Given the description of an element on the screen output the (x, y) to click on. 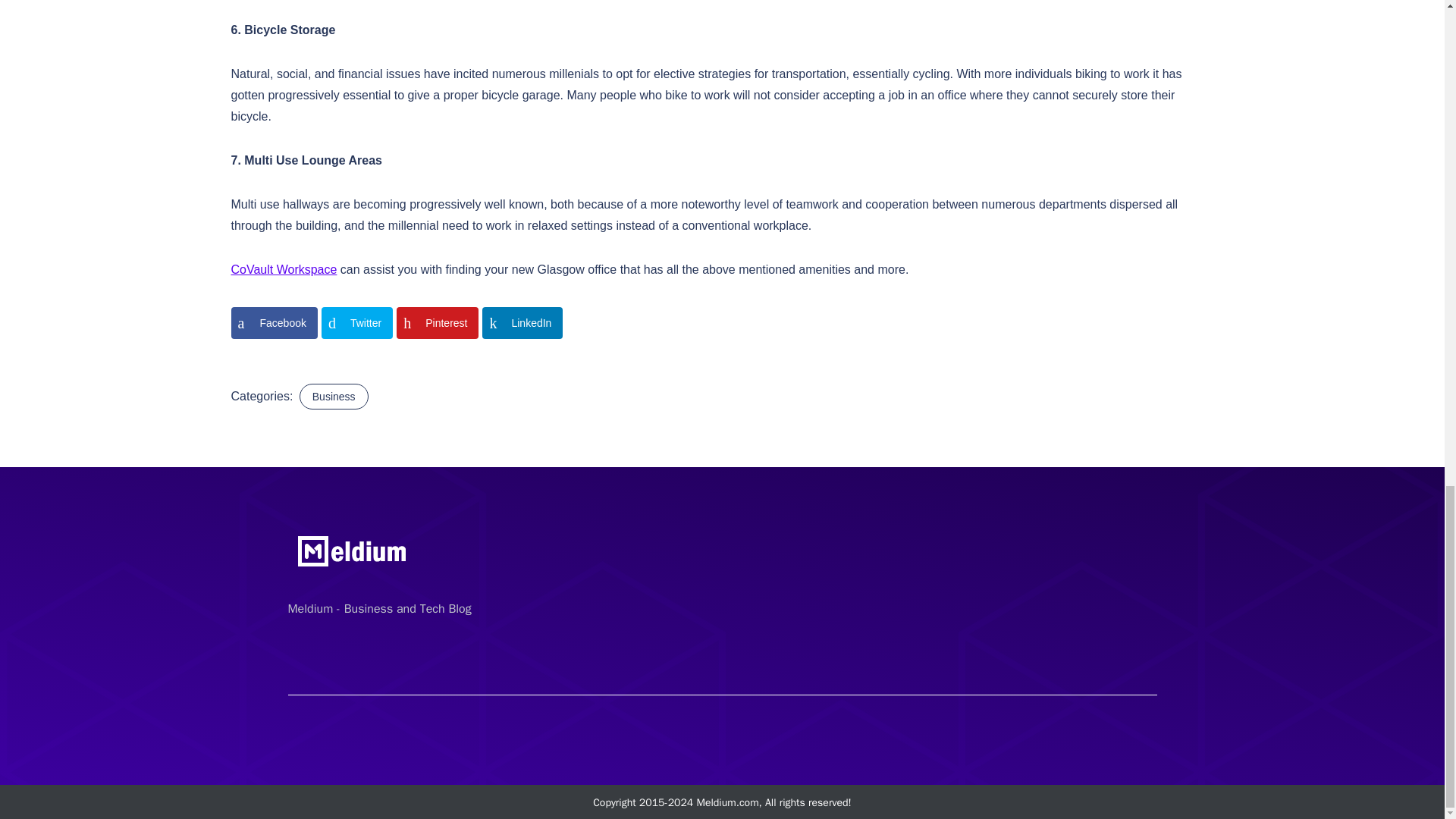
CoVault Workspace (283, 269)
Twitter (357, 323)
Share on Pinterest (437, 323)
Facebook (273, 323)
Share on LinkedIn (521, 323)
Share on Twitter (357, 323)
Share on Facebook (273, 323)
